Given the description of an element on the screen output the (x, y) to click on. 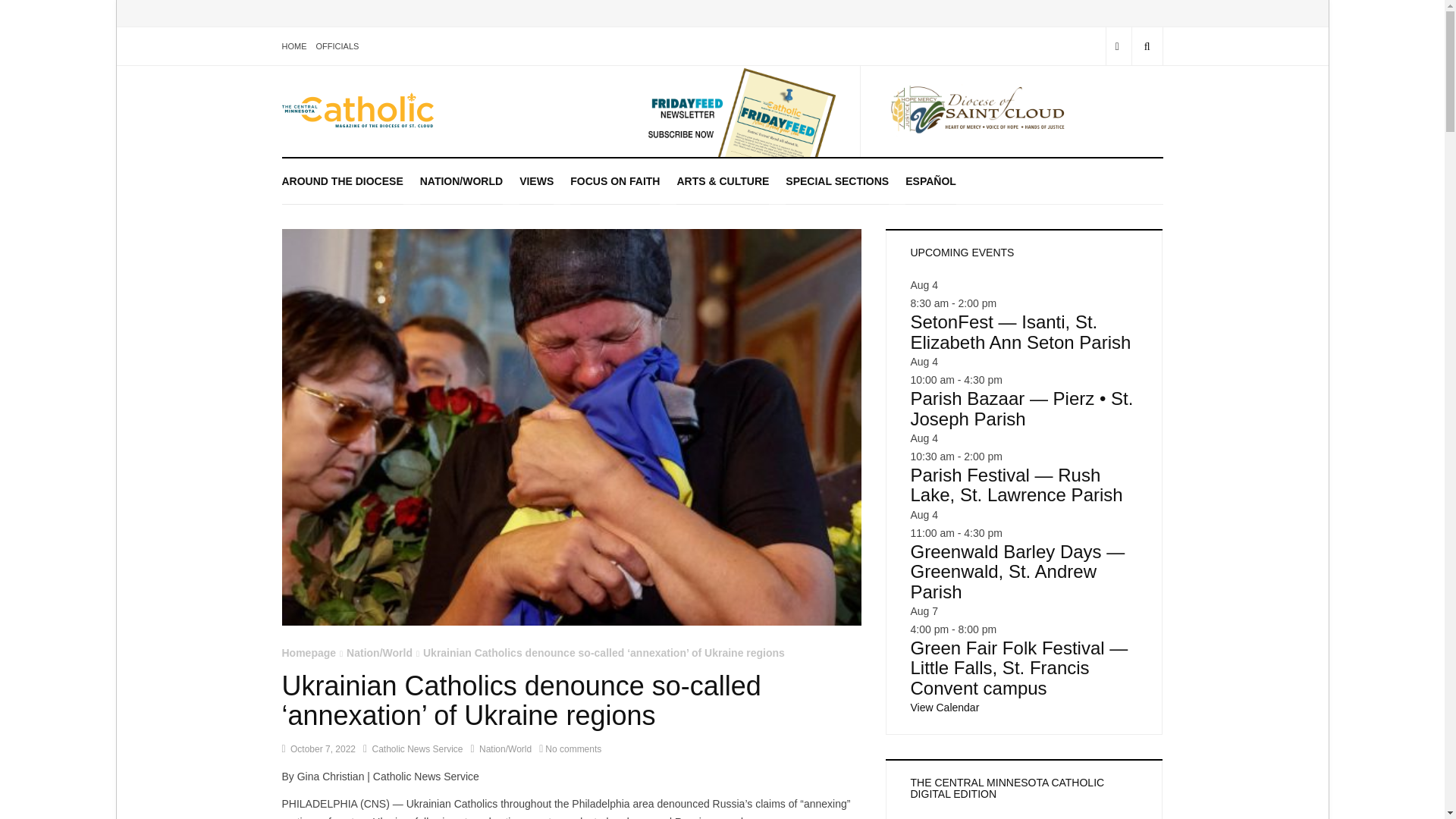
AROUND THE DIOCESE (342, 180)
Homepage (309, 653)
View more events. (944, 707)
OFFICIALS (336, 46)
